Given the description of an element on the screen output the (x, y) to click on. 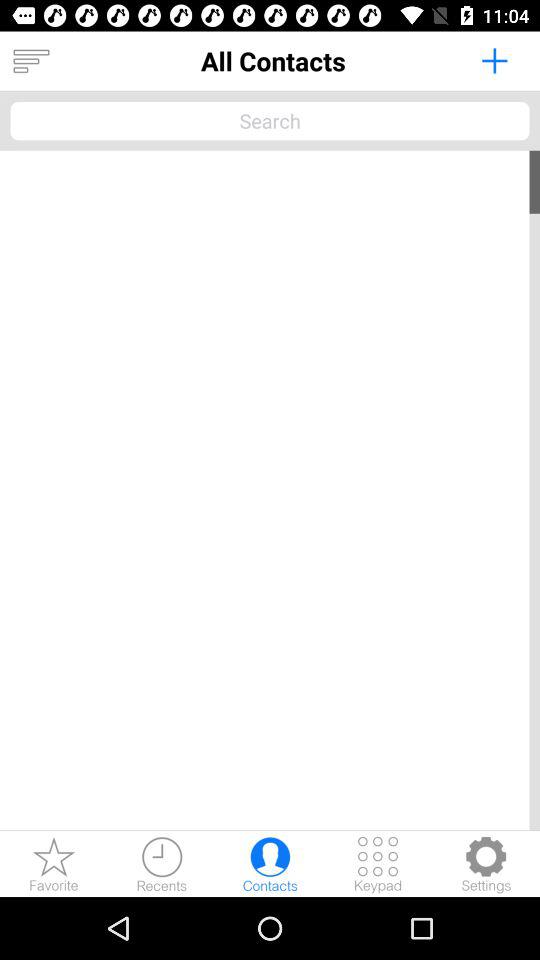
contacts (269, 864)
